Given the description of an element on the screen output the (x, y) to click on. 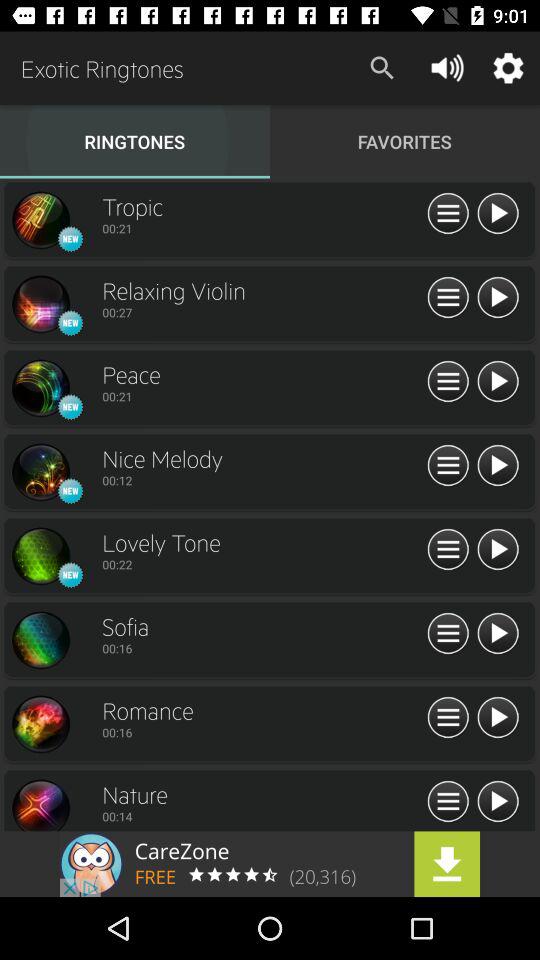
play this (497, 717)
